Given the description of an element on the screen output the (x, y) to click on. 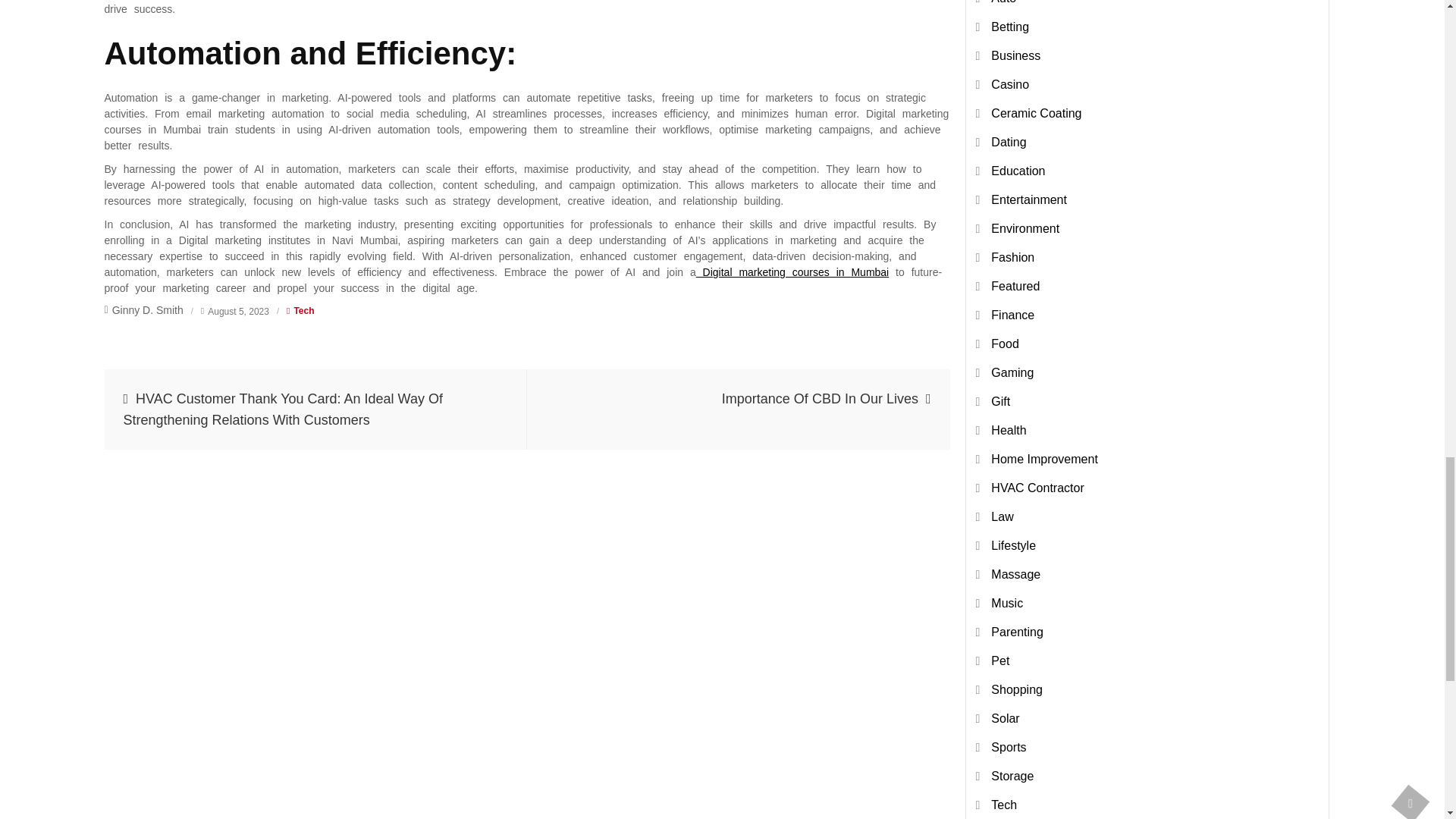
Importance Of CBD In Our Lives (738, 409)
Tech (304, 310)
Digital marketing courses in Mumbai (792, 272)
Ginny D. Smith (143, 309)
